Given the description of an element on the screen output the (x, y) to click on. 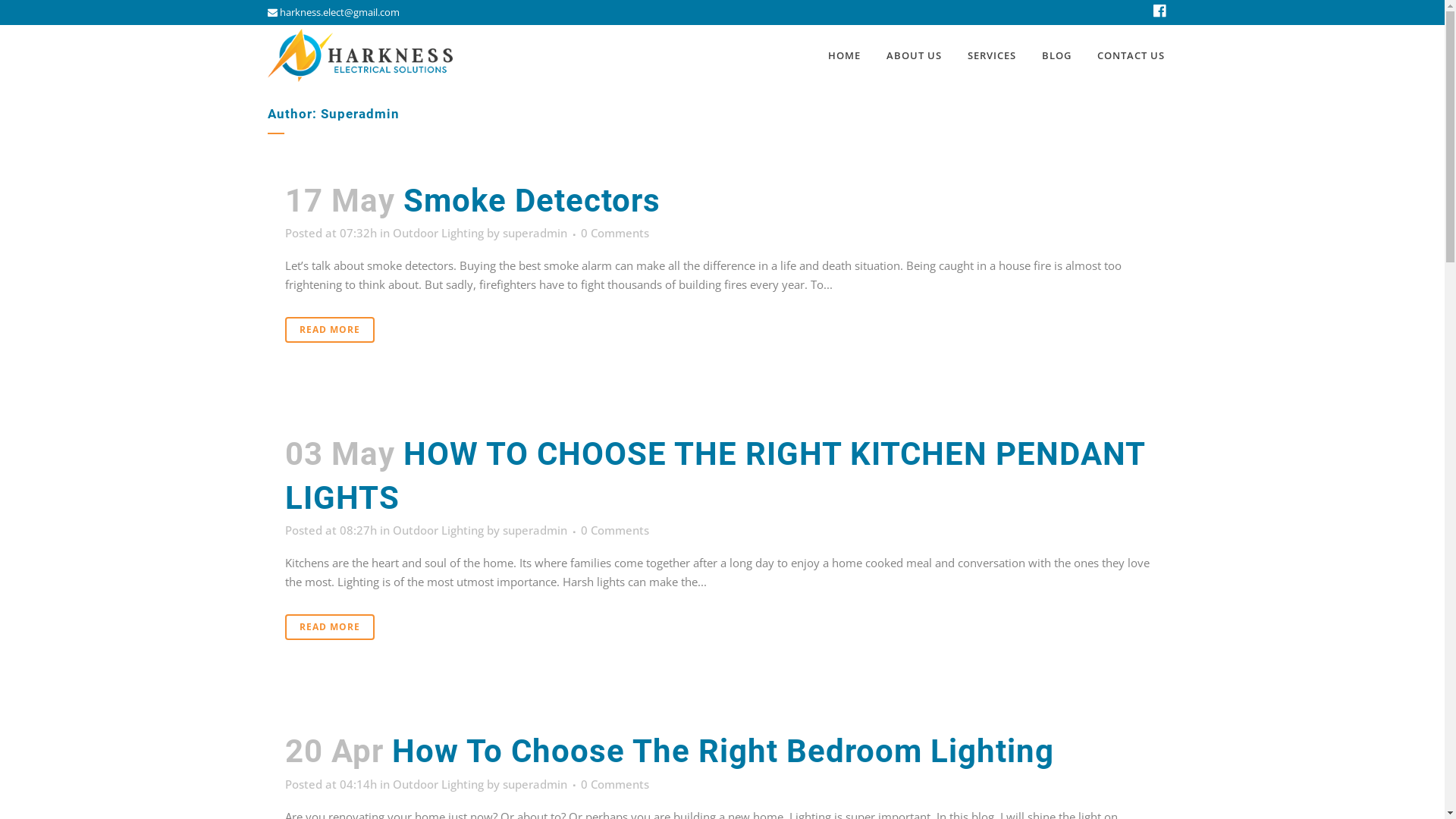
Outdoor Lighting Element type: text (437, 783)
0 Comments Element type: text (614, 529)
BLOG Element type: text (1055, 55)
superadmin Element type: text (534, 783)
CONTACT US Element type: text (1130, 55)
HOME Element type: text (843, 55)
Outdoor Lighting Element type: text (437, 232)
SERVICES Element type: text (990, 55)
0 Comments Element type: text (614, 232)
superadmin Element type: text (534, 232)
How To Choose The Right Bedroom Lighting Element type: text (722, 750)
superadmin Element type: text (534, 529)
ABOUT US Element type: text (913, 55)
Outdoor Lighting Element type: text (437, 529)
READ MORE Element type: text (329, 329)
READ MORE Element type: text (329, 627)
0 Comments Element type: text (614, 783)
HOW TO CHOOSE THE RIGHT KITCHEN PENDANT LIGHTS Element type: text (715, 475)
Smoke Detectors Element type: text (531, 200)
